Given the description of an element on the screen output the (x, y) to click on. 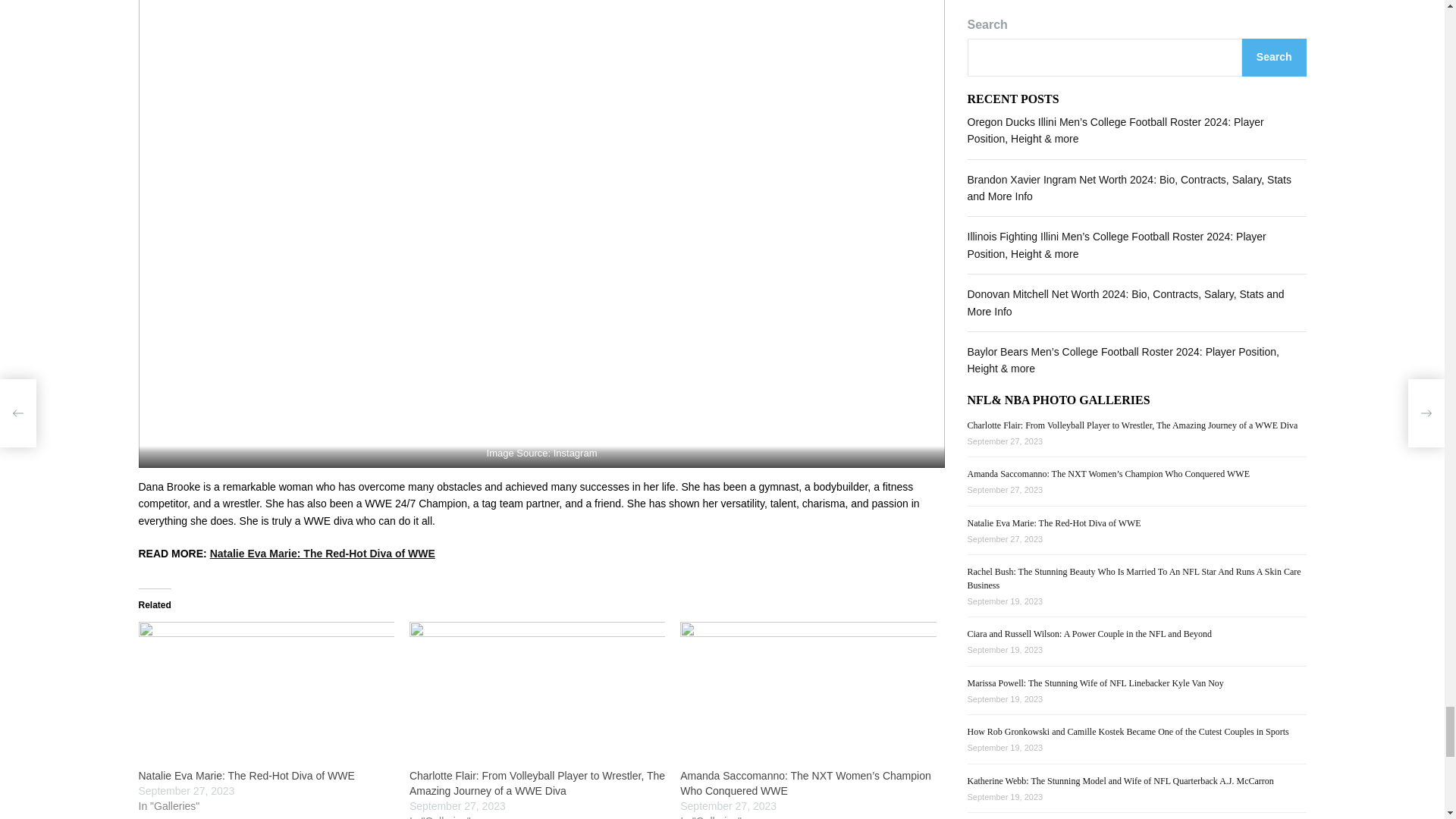
Natalie Eva Marie: The Red-Hot Diva of WWE (265, 694)
Natalie Eva Marie: The Red-Hot Diva of WWE (245, 775)
